Given the description of an element on the screen output the (x, y) to click on. 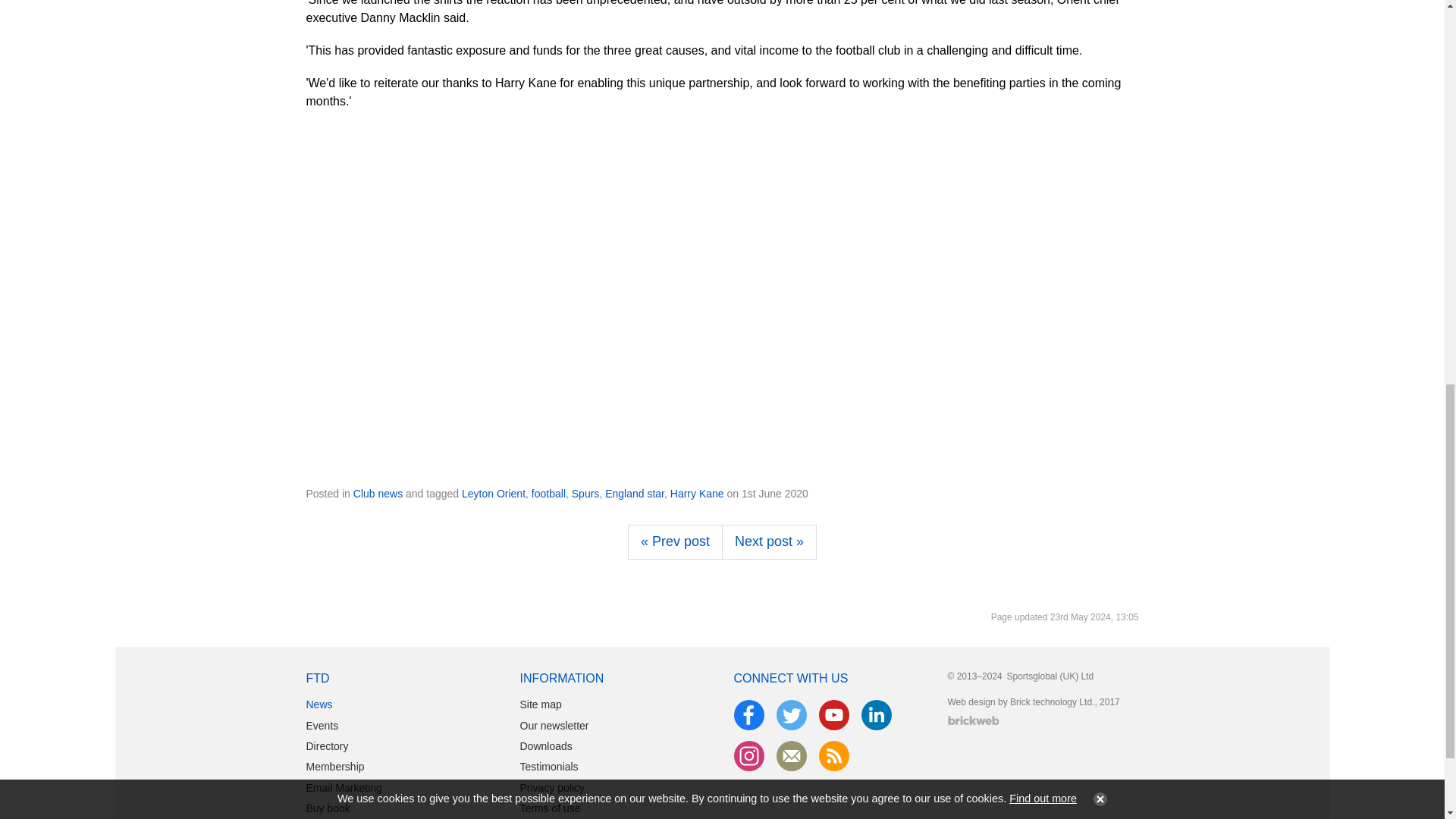
Website designed and maintained by Brick technology Ltd. (972, 719)
Newsletter (791, 756)
Facebook (749, 715)
Instagram (749, 756)
Twitter (791, 715)
YouTube (834, 715)
LinkedIn (877, 715)
RSS (834, 756)
